Given the description of an element on the screen output the (x, y) to click on. 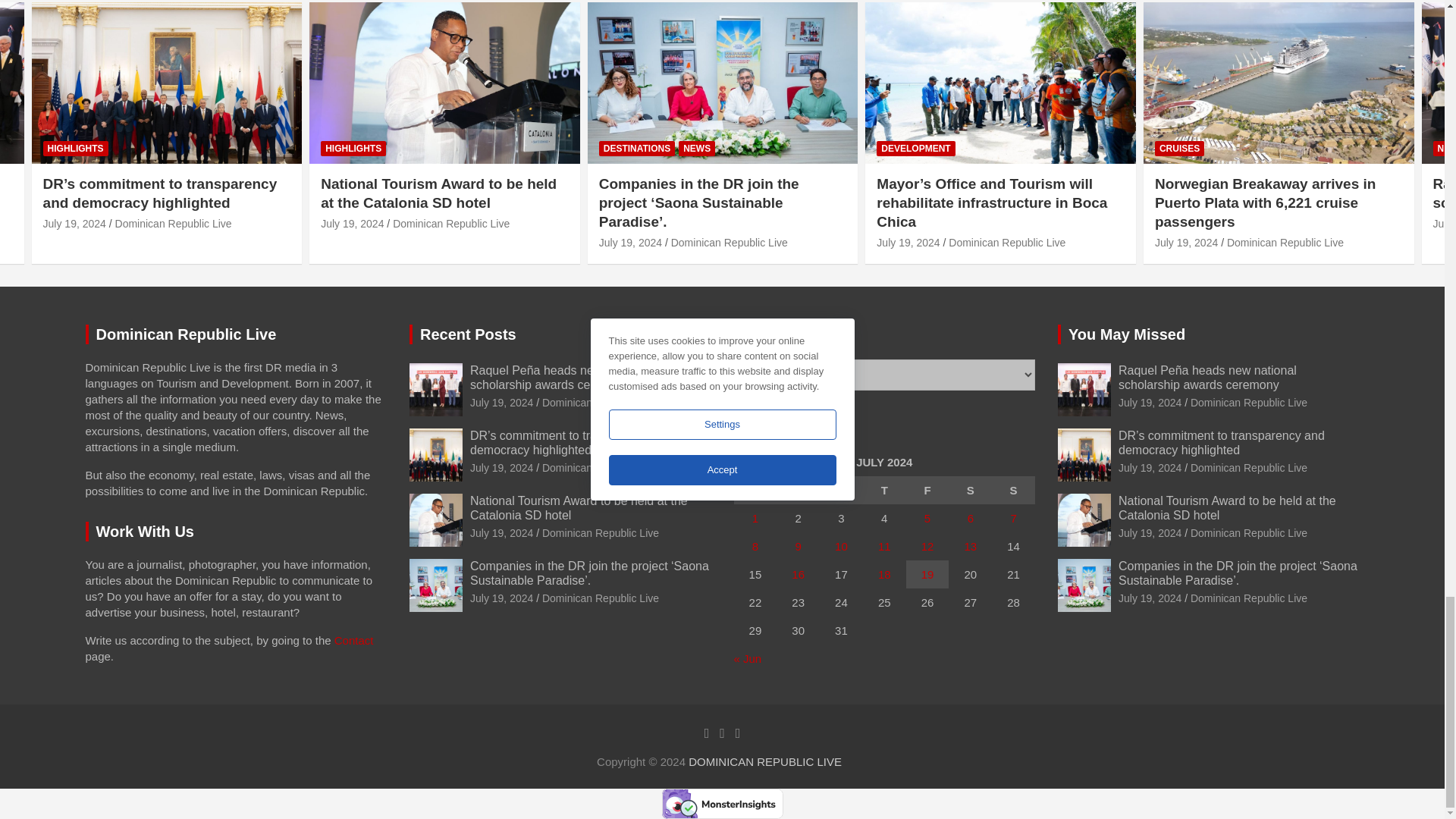
National Tourism Award to be held at the Catalonia SD hotel (352, 223)
